Given the description of an element on the screen output the (x, y) to click on. 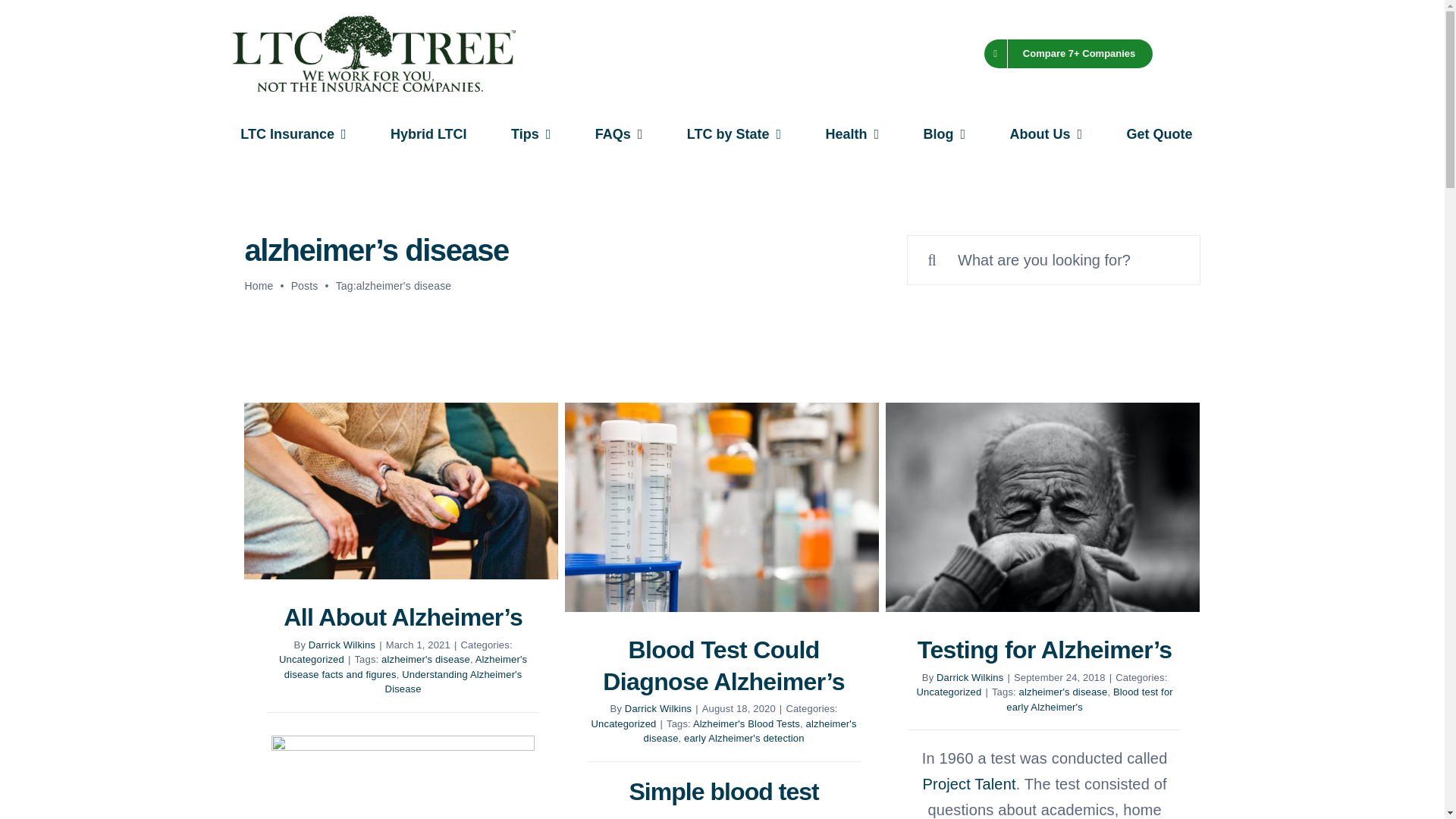
Posts by Darrick Wilkins (657, 708)
Tips (530, 135)
LTC Insurance (292, 135)
FAQs (619, 135)
Posts by Darrick Wilkins (341, 644)
Posts by Darrick Wilkins (969, 677)
Hybrid LTCI (428, 135)
